Given the description of an element on the screen output the (x, y) to click on. 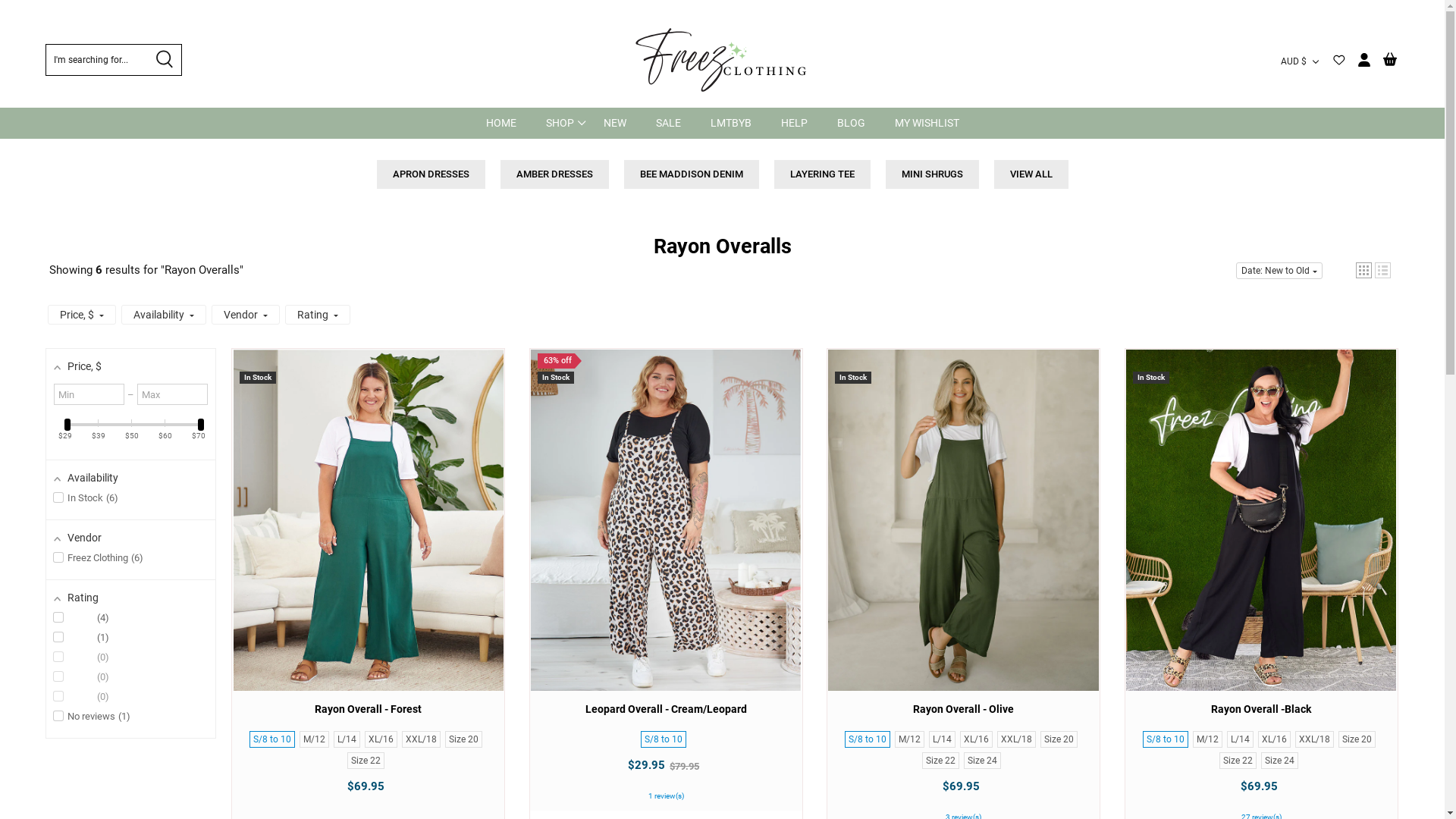
SALE Element type: text (667, 122)
MINI SHRUGS Element type: text (932, 174)
AMBER DRESSES Element type: text (554, 174)
HELP Element type: text (794, 122)
VIEW ALL Element type: text (1030, 174)
MY WISHLIST Element type: text (926, 122)
BLOG Element type: text (850, 122)
Date: New to Old Element type: text (1279, 270)
I'm searching for... Element type: text (113, 59)
BEE MADDISON DENIM Element type: text (690, 174)
HOME Element type: text (500, 122)
APRON DRESSES Element type: text (430, 174)
SHOP Element type: text (559, 122)
NEW Element type: text (614, 122)
LMTBYB Element type: text (730, 122)
AUD $
Down Element type: text (1301, 61)
LAYERING TEE Element type: text (821, 174)
Freez Clothing Element type: hover (722, 60)
